Given the description of an element on the screen output the (x, y) to click on. 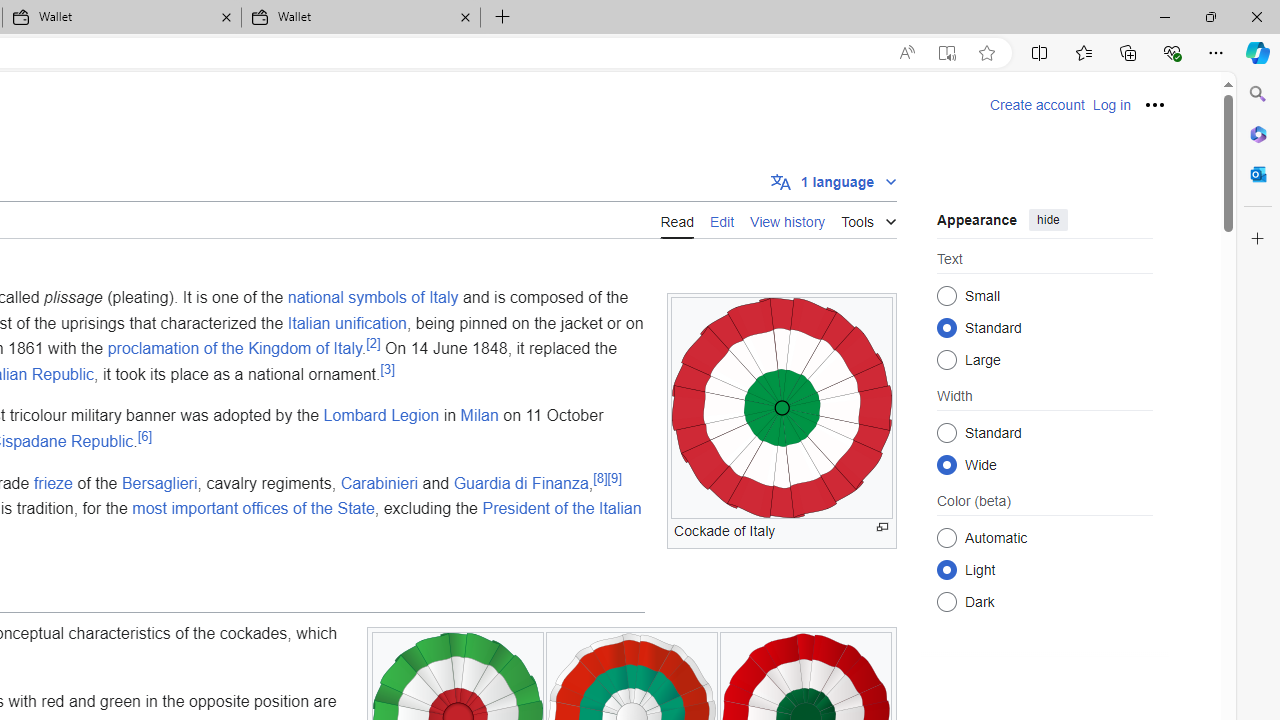
To get missing image descriptions, open the context menu. (781, 407)
hide (1048, 219)
Light (946, 569)
proclamation of the Kingdom of Italy (234, 348)
Tools (868, 218)
[8] (600, 478)
View history (787, 219)
most important offices of the State (253, 508)
Carabinieri (379, 482)
To get missing image descriptions, open the context menu. (782, 407)
